Given the description of an element on the screen output the (x, y) to click on. 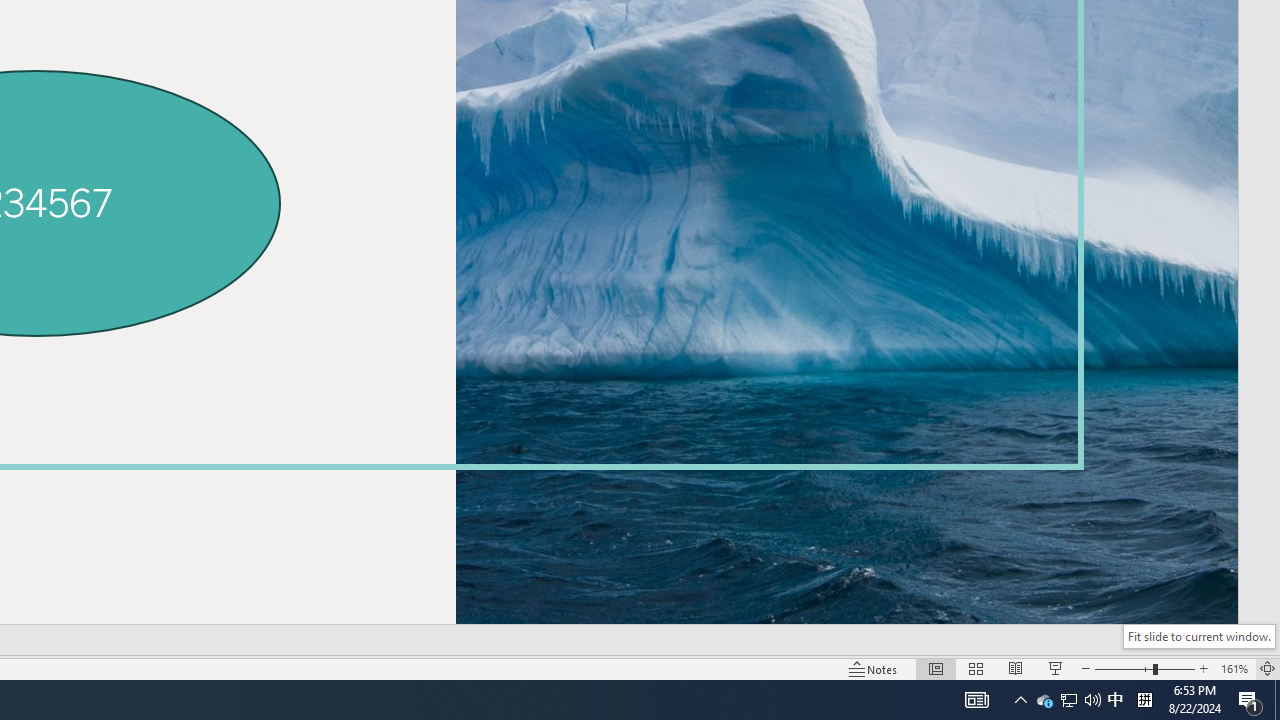
Zoom (1144, 668)
Slide Show (1055, 668)
Reading View (1015, 668)
Zoom Out (1123, 668)
Zoom In (1204, 668)
Fit slide to current window. (1199, 636)
Notes  (874, 668)
Normal (936, 668)
Zoom 161% (1234, 668)
Zoom to Fit  (1267, 668)
Slide Sorter (975, 668)
